Given the description of an element on the screen output the (x, y) to click on. 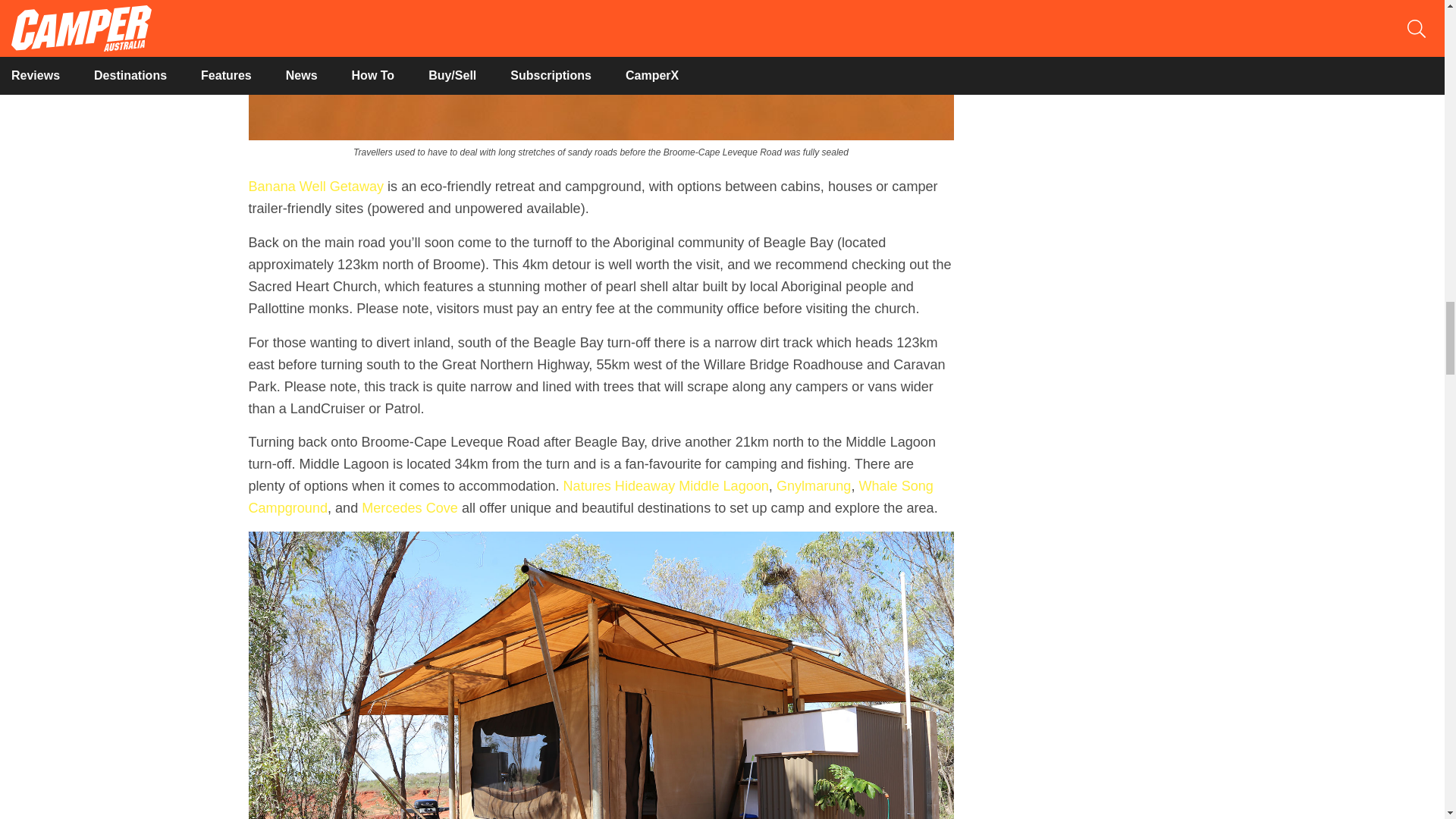
Banana Well Getaway (316, 186)
Natures Hideaway Middle Lagoon (665, 485)
